Given the description of an element on the screen output the (x, y) to click on. 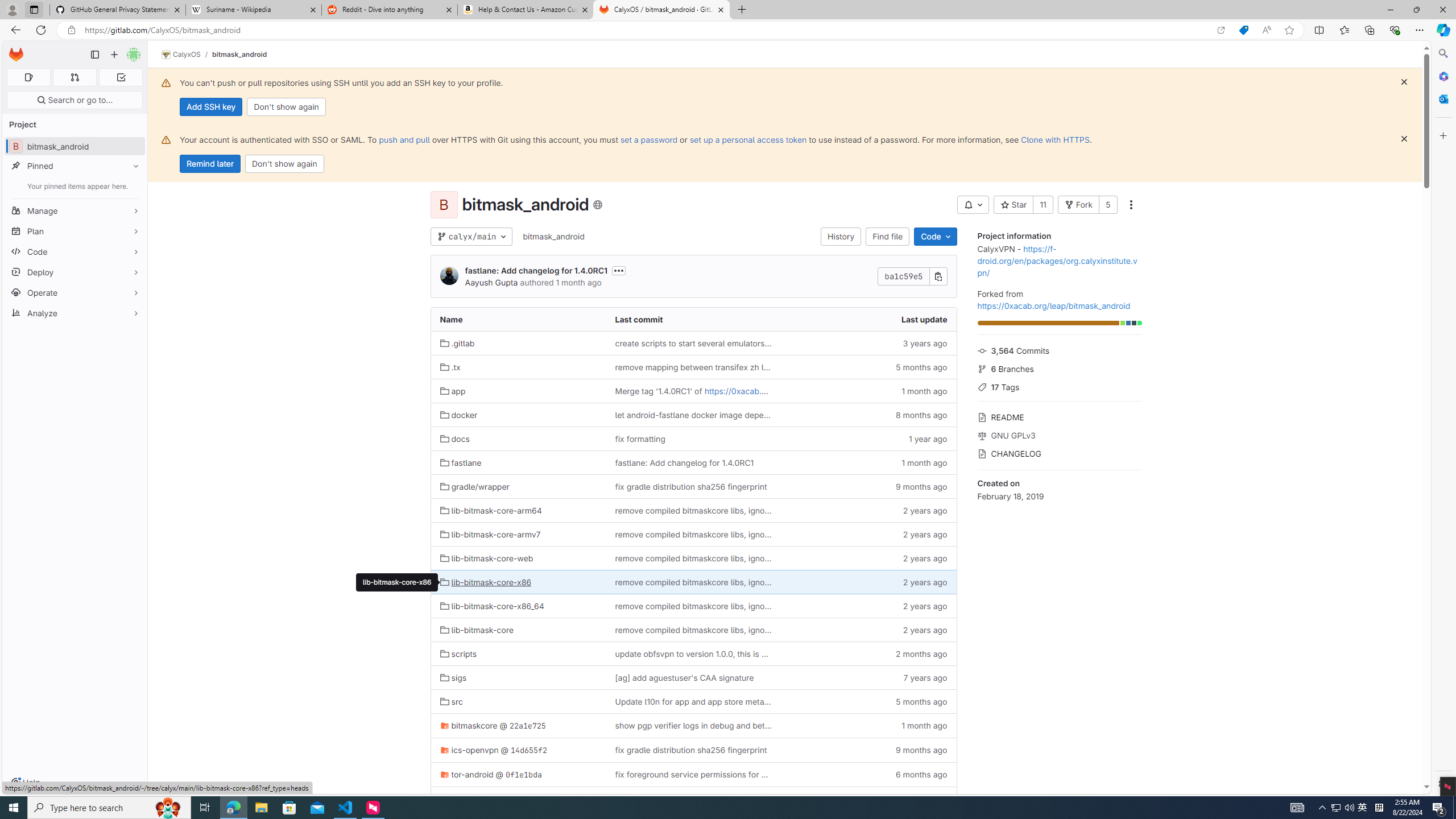
6 Branches (1058, 367)
6 Branches (1058, 367)
Close Outlook pane (1442, 98)
Plan (74, 230)
lib-bitmask-core-x86 (517, 582)
Open in app (1220, 29)
docs (517, 438)
Assigned issues 0 (28, 76)
Operate (74, 292)
Merge requests 0 (74, 76)
fastlane: Add changelog for 1.4.0RC1 (684, 462)
